Given the description of an element on the screen output the (x, y) to click on. 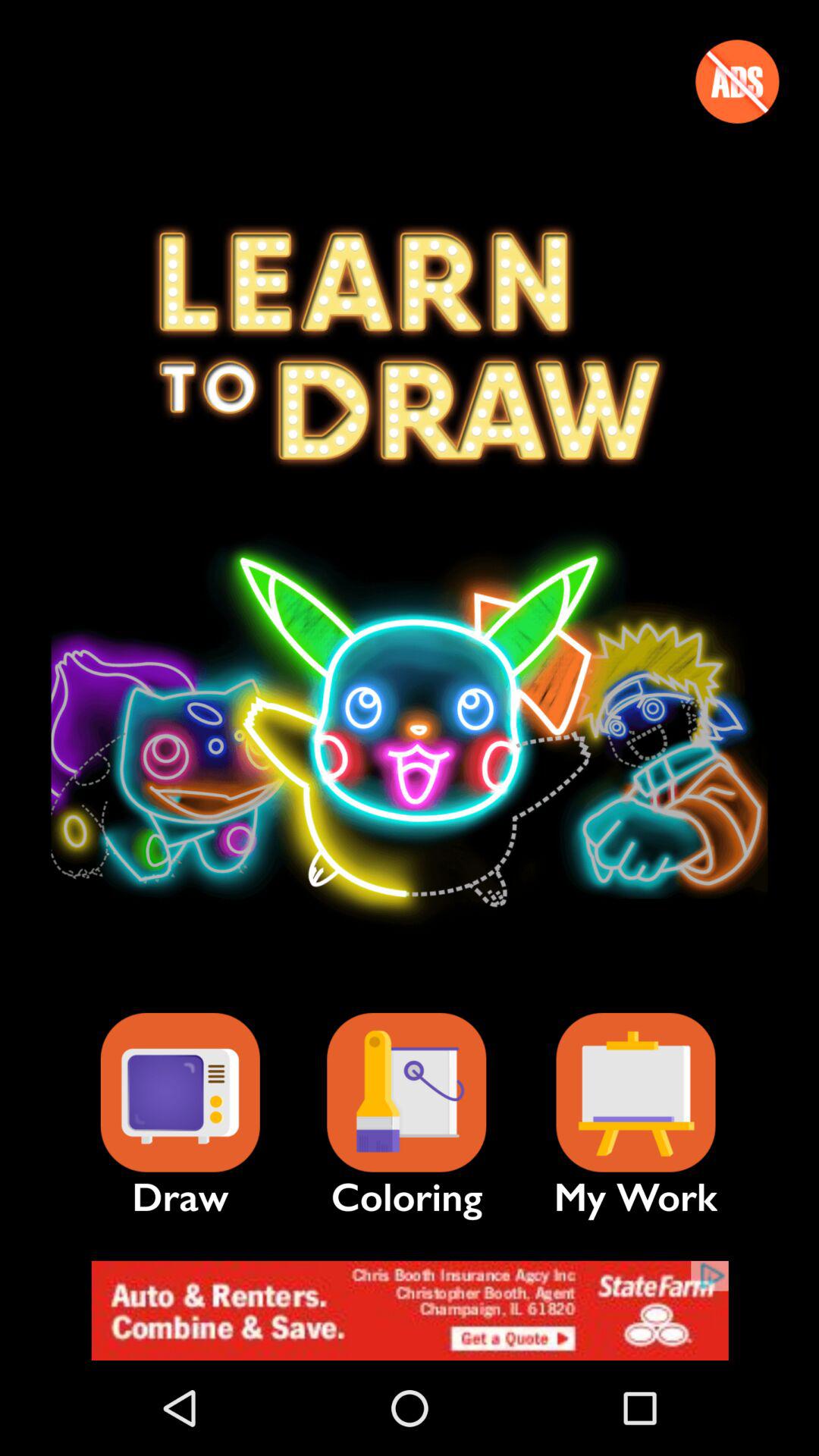
toggle abs (737, 81)
